Given the description of an element on the screen output the (x, y) to click on. 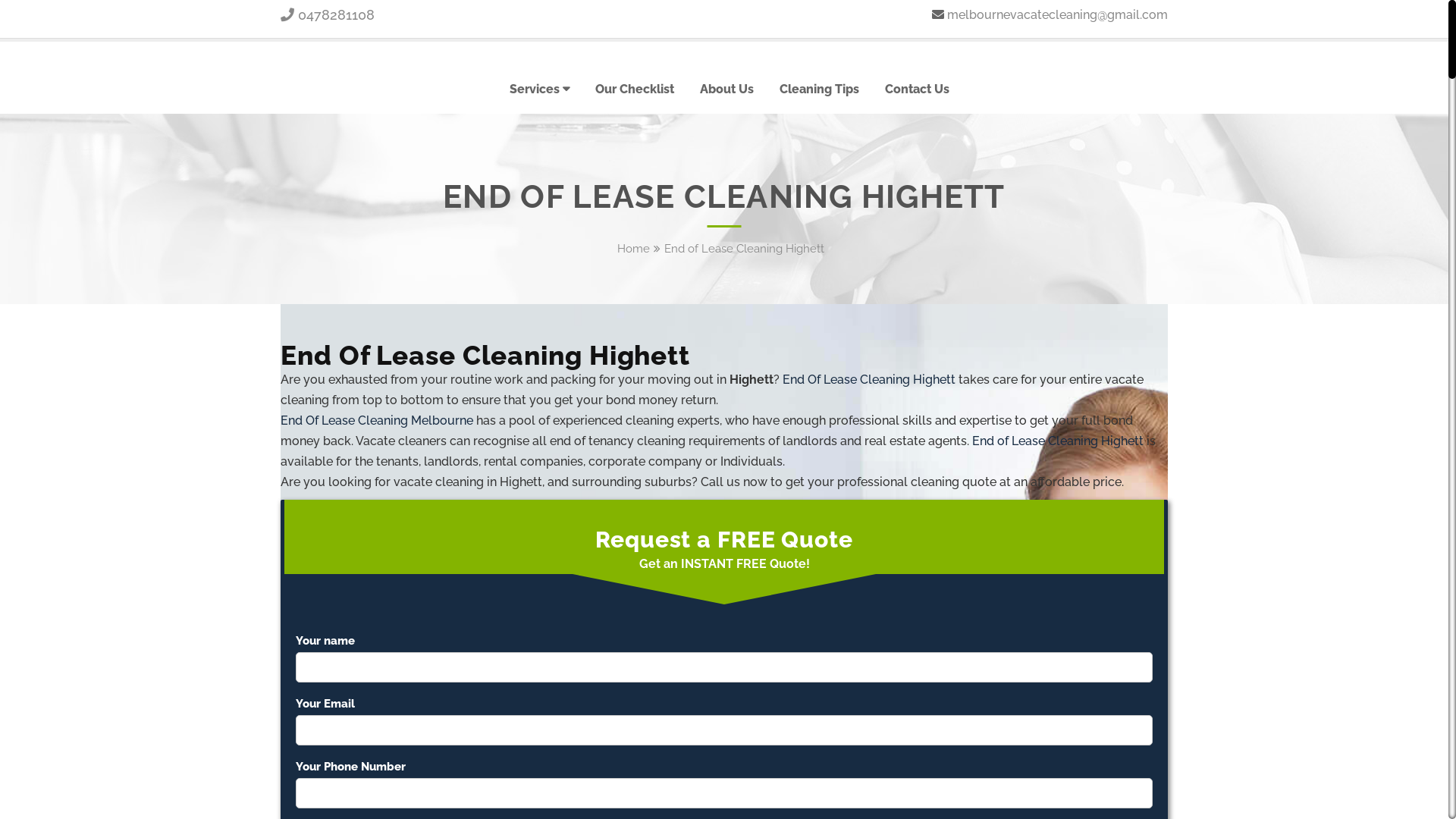
End Of Lease Cleaning Highett Element type: text (868, 379)
Services Element type: text (539, 88)
Our Checklist Element type: text (634, 88)
End Of Lease Cleaning Melbourne Element type: text (376, 420)
About Us Element type: text (726, 88)
Home Element type: text (633, 248)
End of Lease Cleaning Highett Element type: text (1057, 440)
0478281108 Element type: text (327, 14)
melbournevacatecleaning@gmail.com Element type: text (1057, 14)
Cleaning Tips Element type: text (819, 88)
Contact Us Element type: text (916, 88)
